Given the description of an element on the screen output the (x, y) to click on. 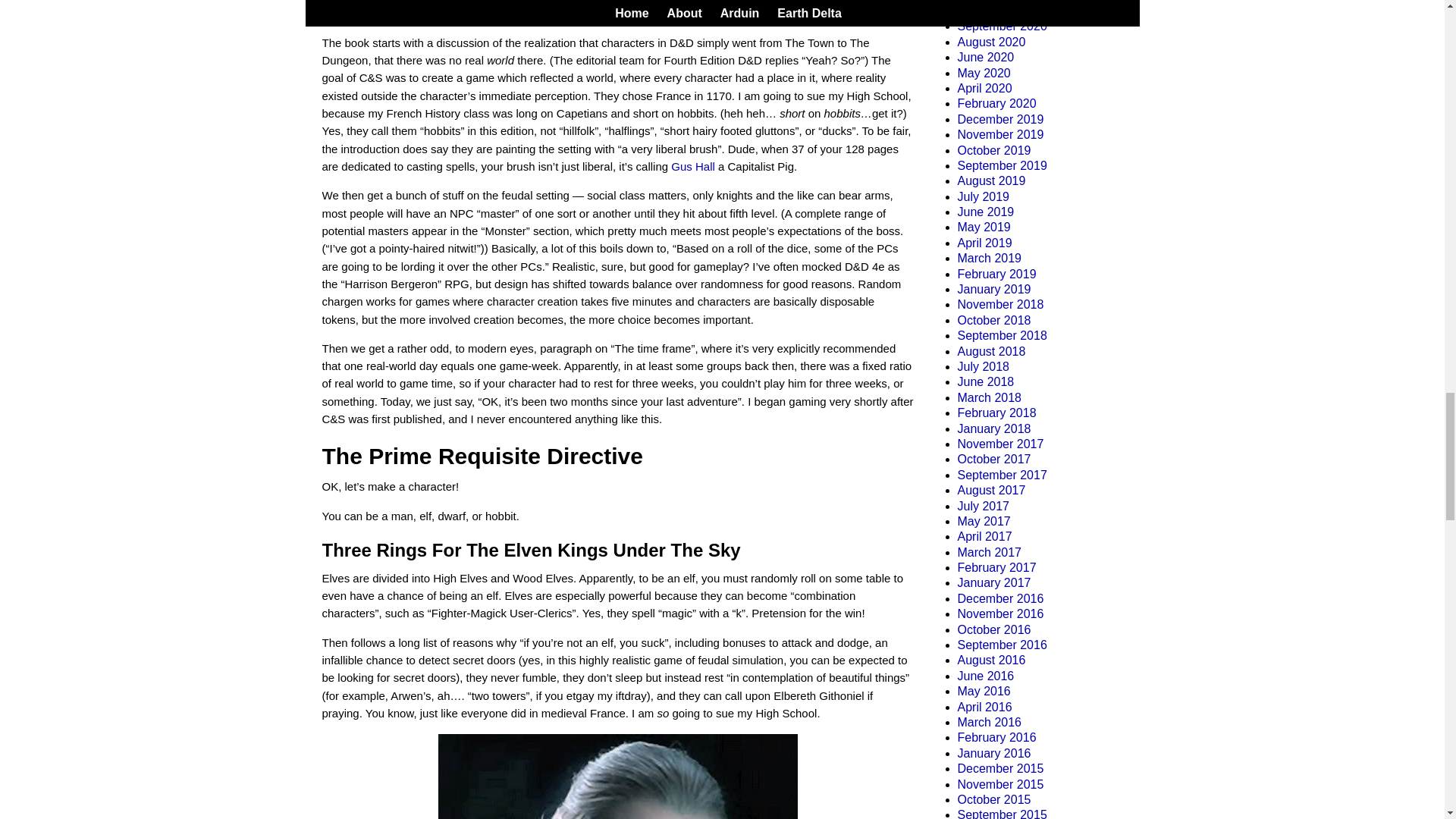
Gus Hall (694, 165)
Legolas (617, 776)
